Given the description of an element on the screen output the (x, y) to click on. 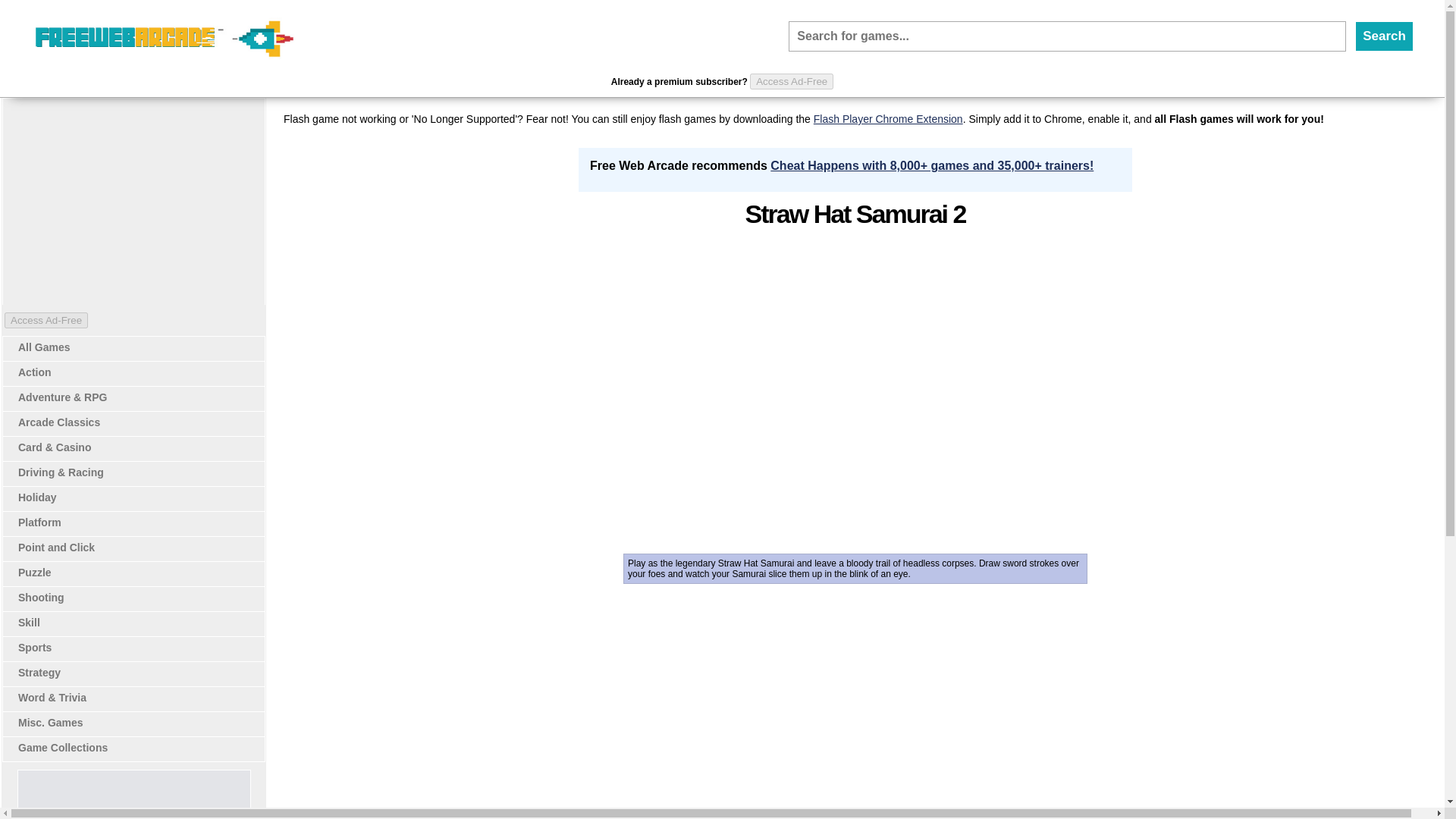
Holiday (36, 497)
Point and Click (55, 547)
Puzzle (33, 572)
Shooting (40, 597)
Sports (33, 647)
Access Ad-Free (790, 81)
All Games (43, 346)
Access Ad-Free (45, 320)
Misc. Games (49, 722)
Arcade Classics (58, 422)
